Given the description of an element on the screen output the (x, y) to click on. 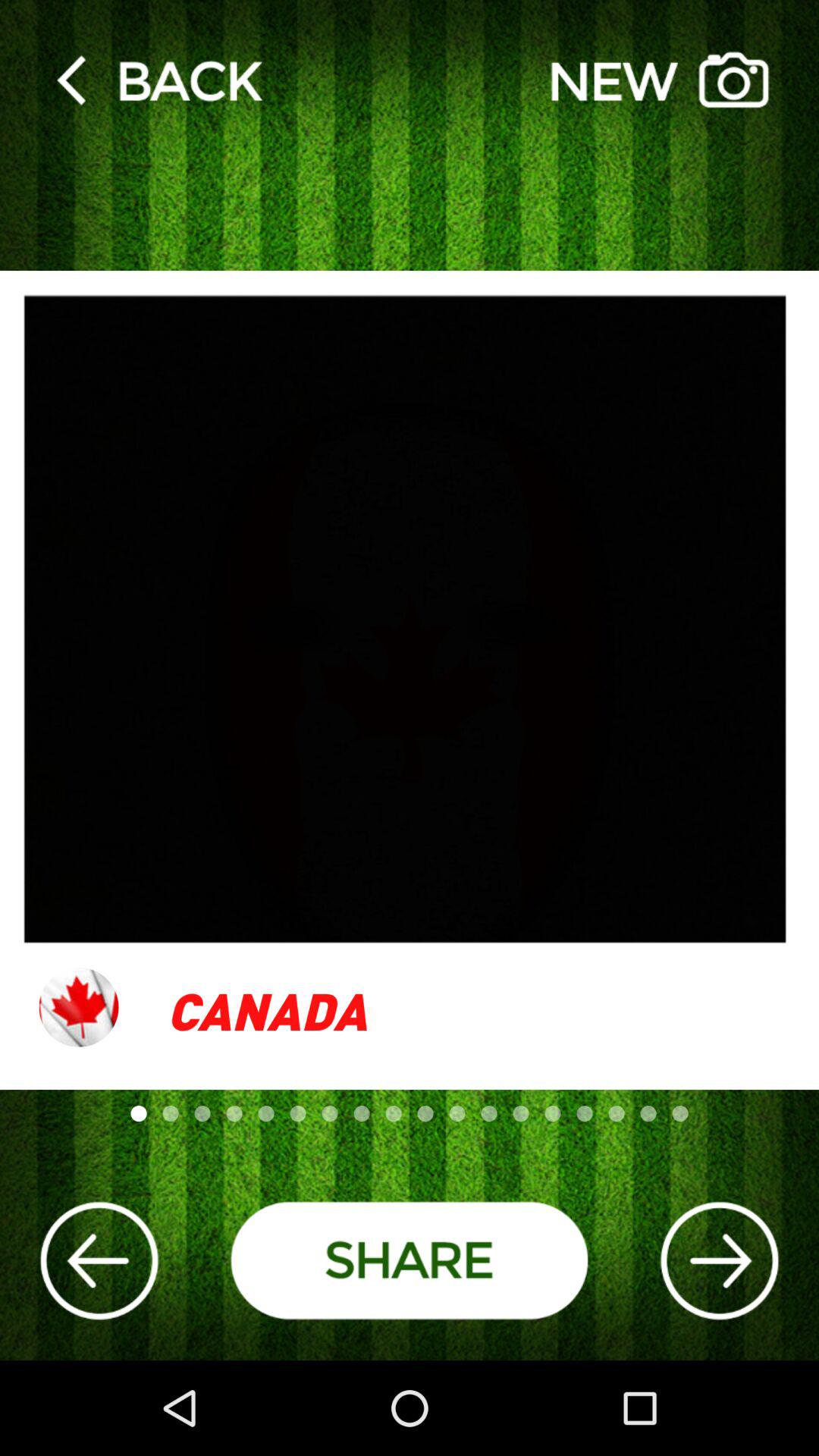
new photo (659, 79)
